Given the description of an element on the screen output the (x, y) to click on. 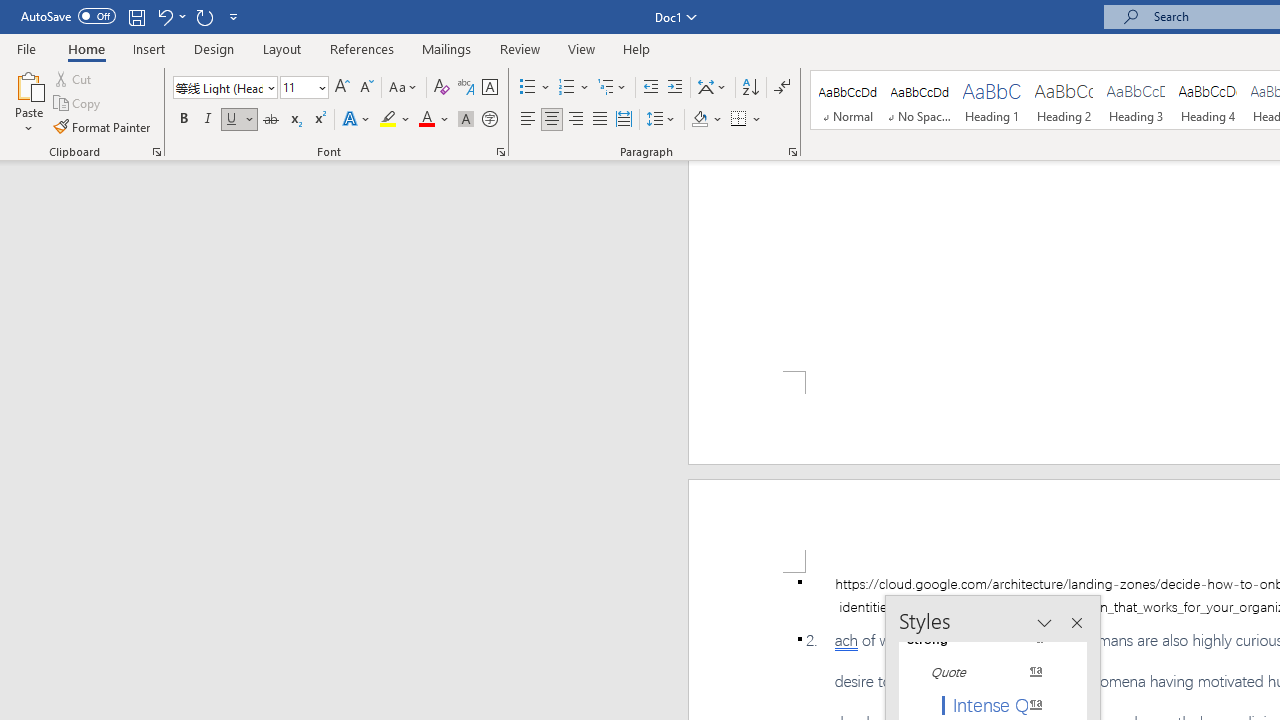
Distributed (623, 119)
Insert (149, 48)
Customize Quick Access Toolbar (234, 15)
Heading 3 (1135, 100)
Review (520, 48)
Center (552, 119)
Character Border (489, 87)
Heading 1 (991, 100)
Undo Paragraph Alignment (170, 15)
Open (320, 87)
Strikethrough (270, 119)
Subscript (294, 119)
